Given the description of an element on the screen output the (x, y) to click on. 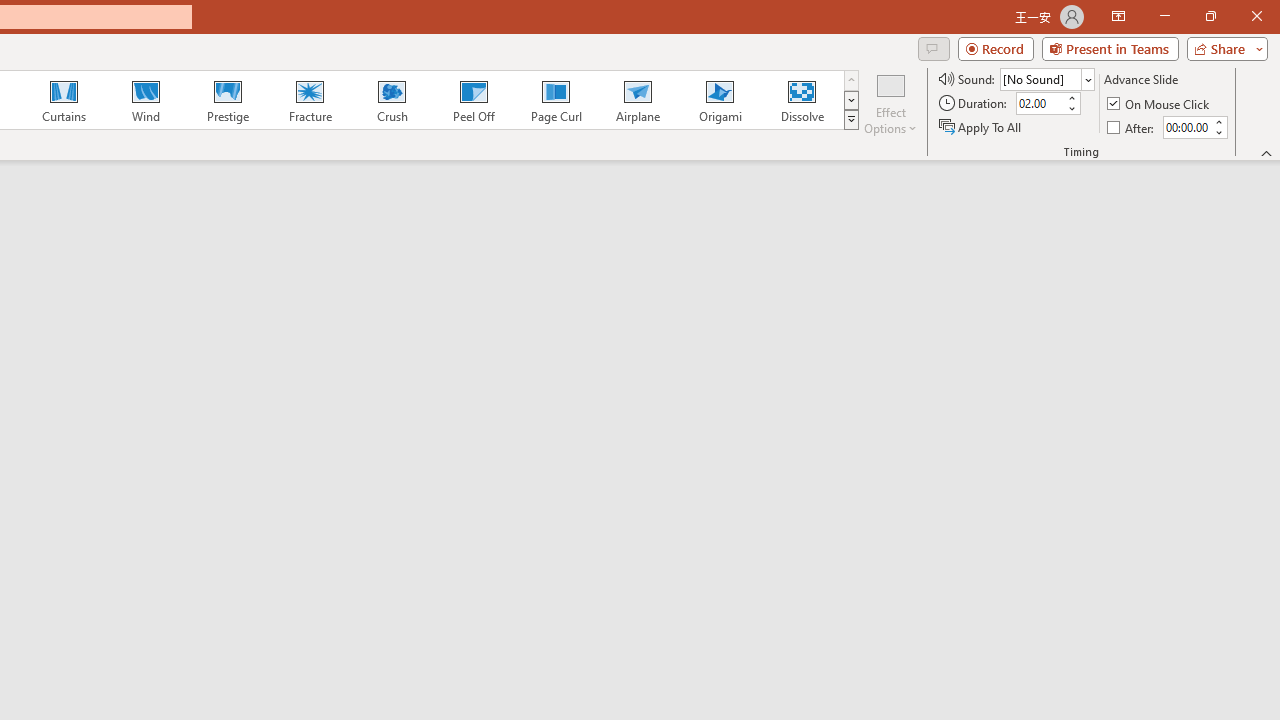
Effect Options (890, 102)
Peel Off (473, 100)
Wind (145, 100)
Transition Effects (850, 120)
On Mouse Click (1159, 103)
Airplane (637, 100)
Fracture (309, 100)
Sound (1046, 78)
Apply To All (981, 126)
